Given the description of an element on the screen output the (x, y) to click on. 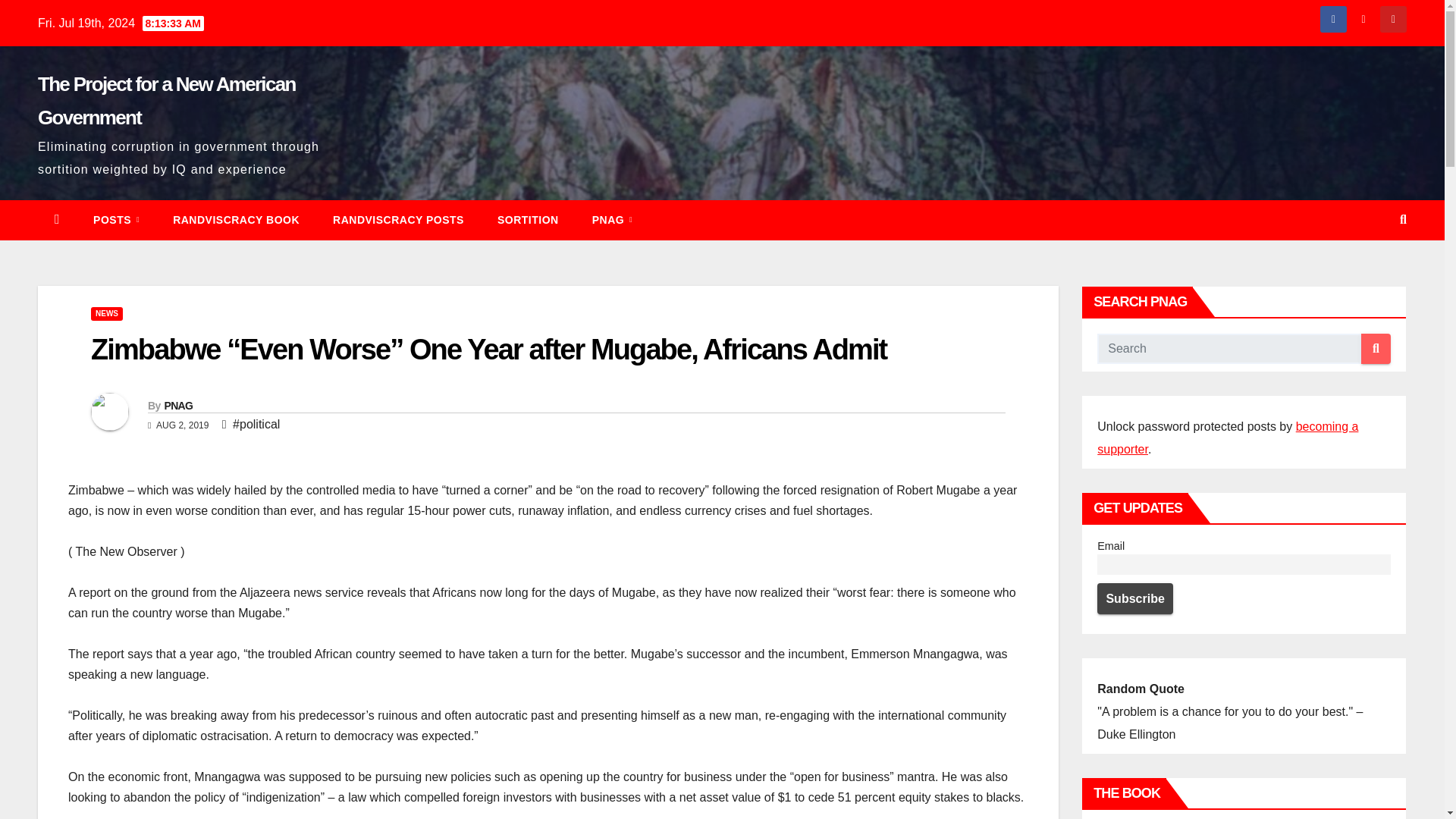
PNAG (177, 405)
Subscribe (1135, 598)
Randviscracy posts (397, 219)
NEWS (106, 314)
Randviscracy book (235, 219)
Posts (116, 219)
RANDVISCRACY POSTS (397, 219)
PNAG (612, 219)
PNAG (612, 219)
RANDVISCRACY BOOK (235, 219)
Sortition (527, 219)
The Project for a New American Government (166, 100)
SORTITION (527, 219)
POSTS (116, 219)
